Given the description of an element on the screen output the (x, y) to click on. 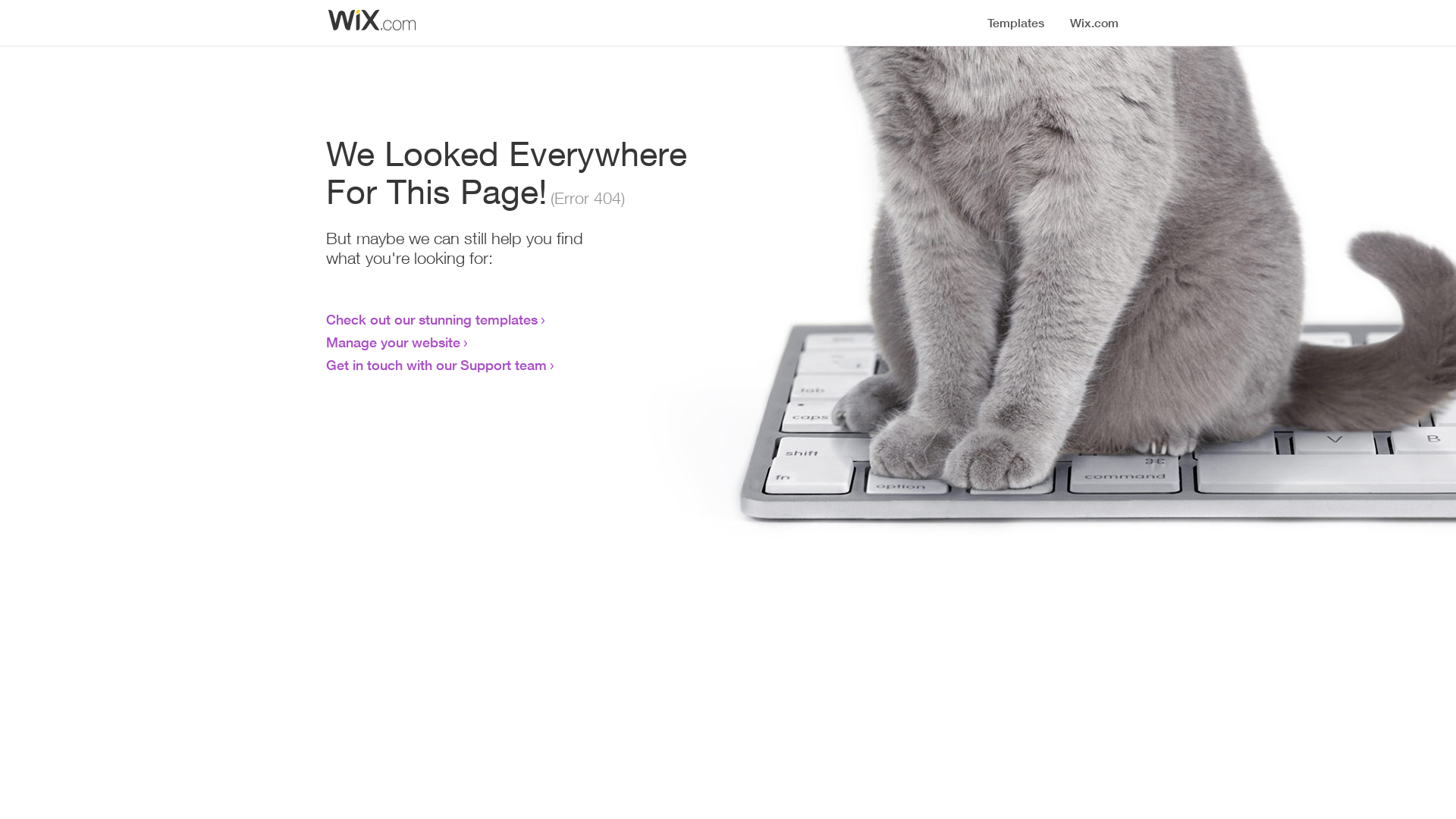
Manage your website Element type: text (393, 341)
Check out our stunning templates Element type: text (431, 318)
Get in touch with our Support team Element type: text (436, 364)
